Given the description of an element on the screen output the (x, y) to click on. 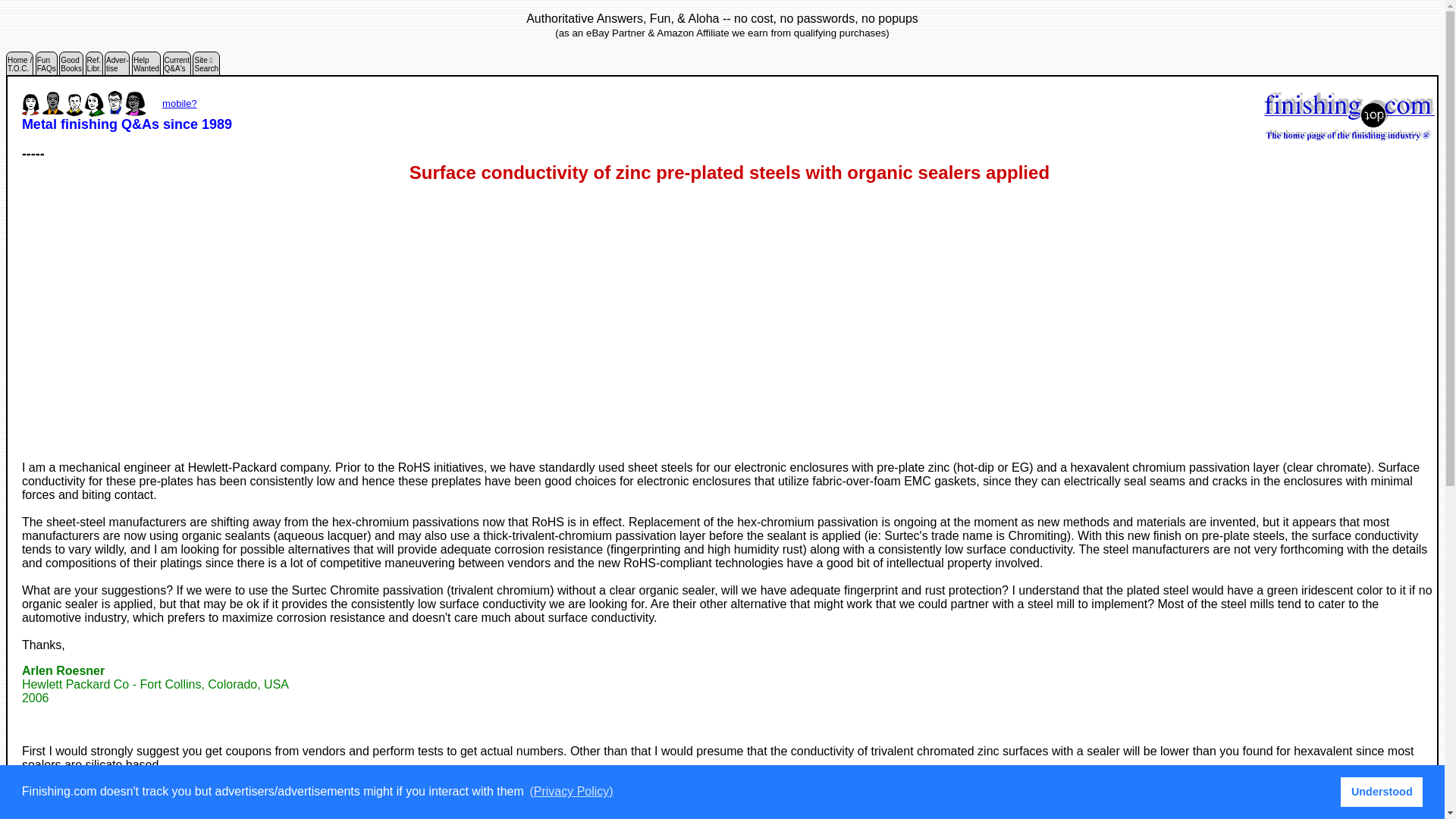
Frequently asked questions about Metal Finishing (46, 66)
Good jobs are going begging (146, 66)
mobile? (178, 102)
Understood (70, 66)
Advertise on the world's premier metal finishing site (94, 66)
The finishing.com Hotline public forum (1381, 791)
On-line library of metal finishing articles (116, 66)
Search the site (116, 66)
Recommended metal finishing books (176, 66)
